Given the description of an element on the screen output the (x, y) to click on. 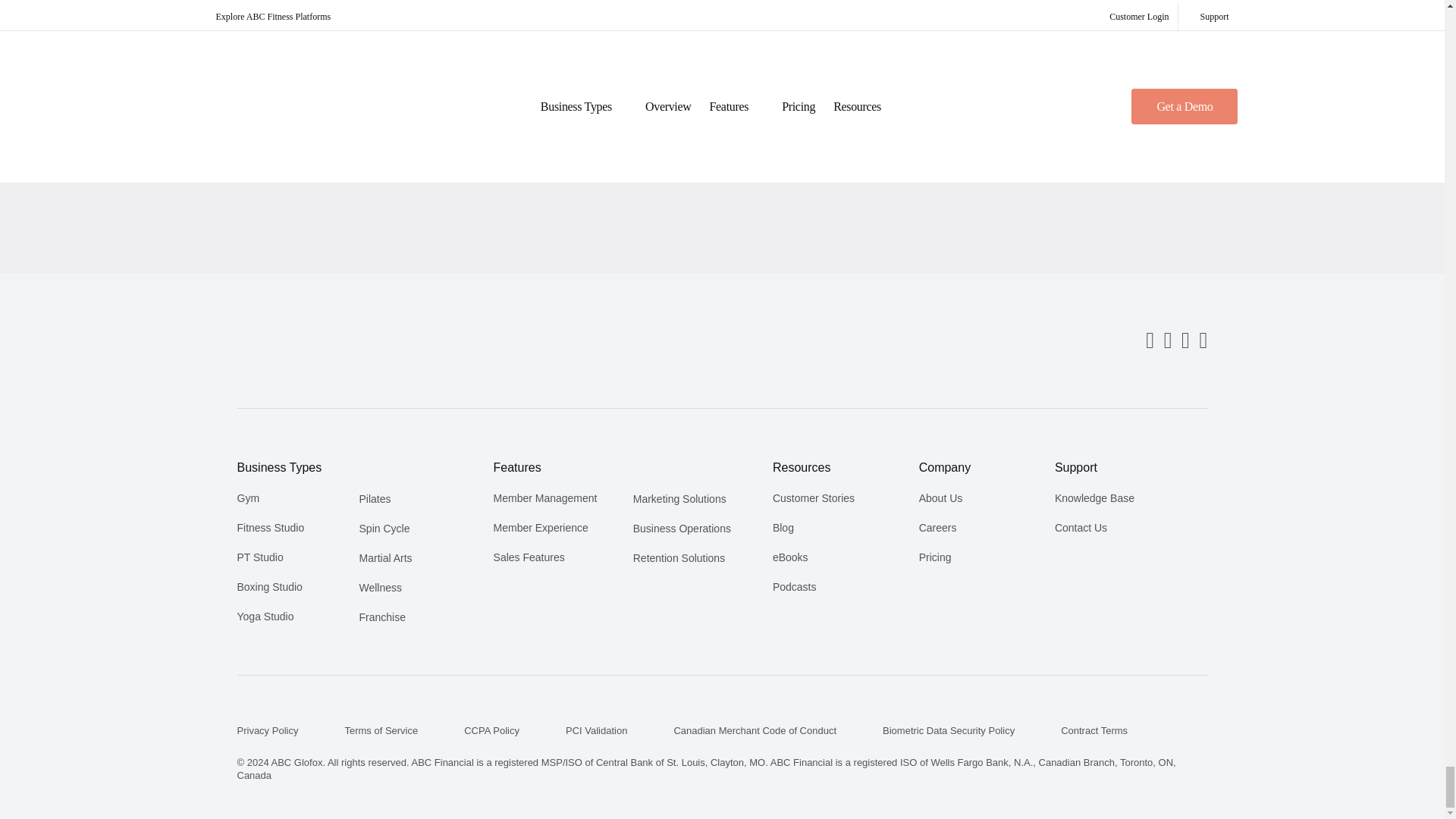
Logo (285, 340)
